Given the description of an element on the screen output the (x, y) to click on. 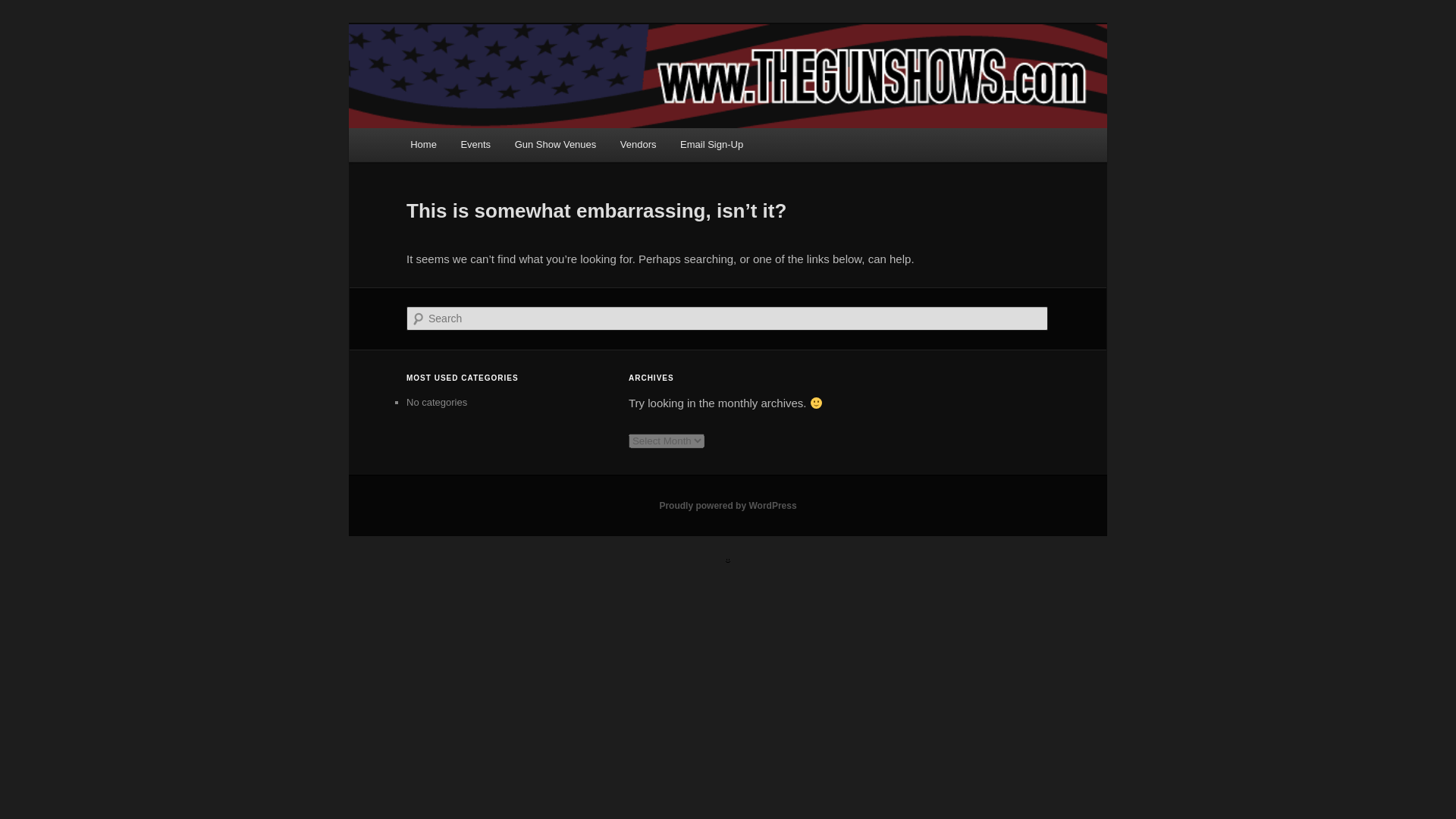
Search (24, 8)
Vendors (638, 143)
Home (422, 143)
Semantic Personal Publishing Platform (727, 505)
Email Sign-Up (711, 143)
Proudly powered by WordPress (727, 505)
Appalachian Promotions (540, 78)
Events (475, 143)
Events (475, 143)
Gun Show Venues (555, 143)
